Given the description of an element on the screen output the (x, y) to click on. 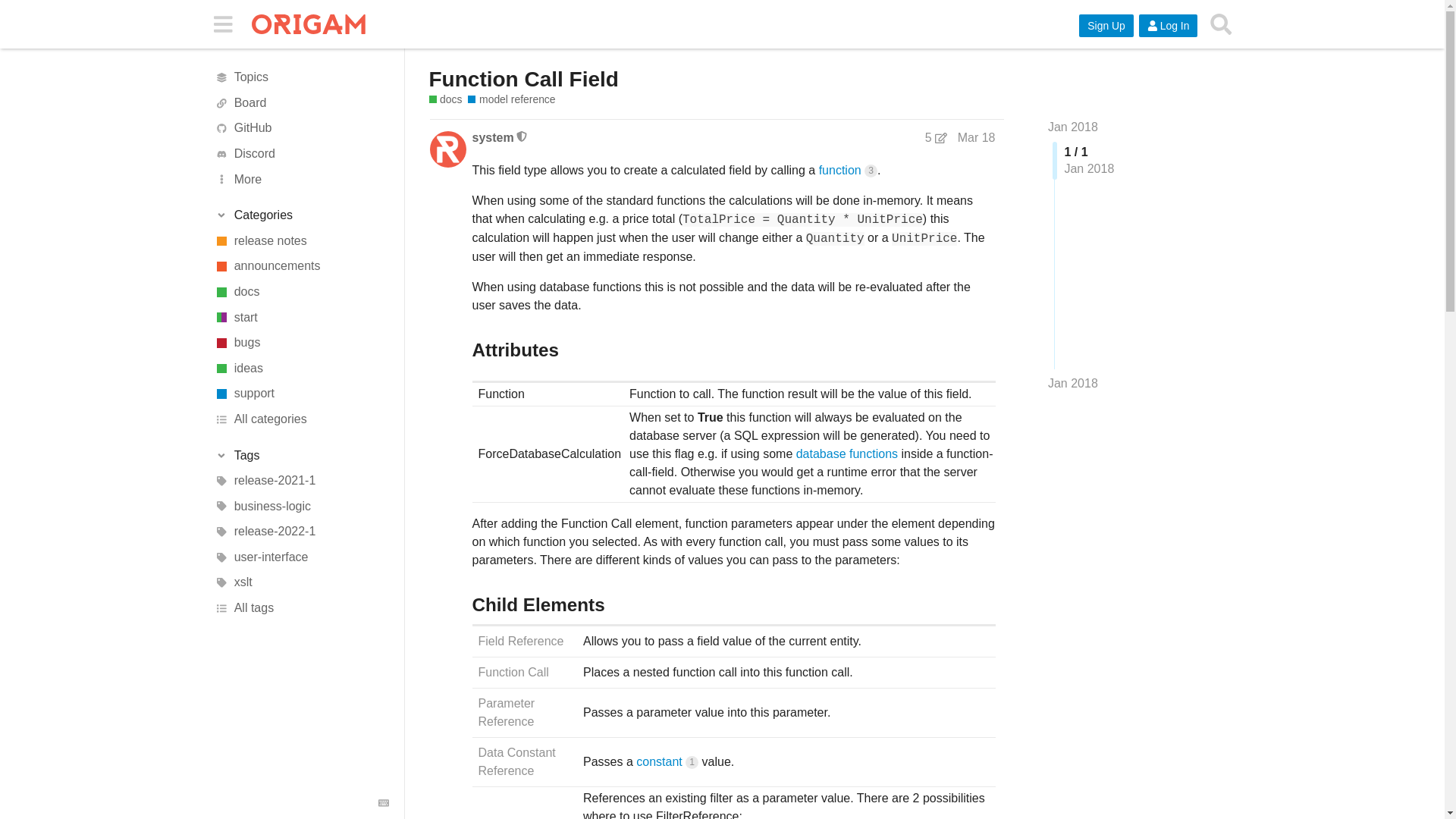
Mar 18 (976, 137)
Sign Up (1105, 25)
5 (936, 137)
xslt (301, 583)
support (301, 394)
GitHub (301, 128)
Function Call Field (523, 78)
release notes (301, 240)
All categories (301, 419)
model reference (510, 99)
release-2021-1 (301, 481)
Jump to the first post (1072, 126)
